Given the description of an element on the screen output the (x, y) to click on. 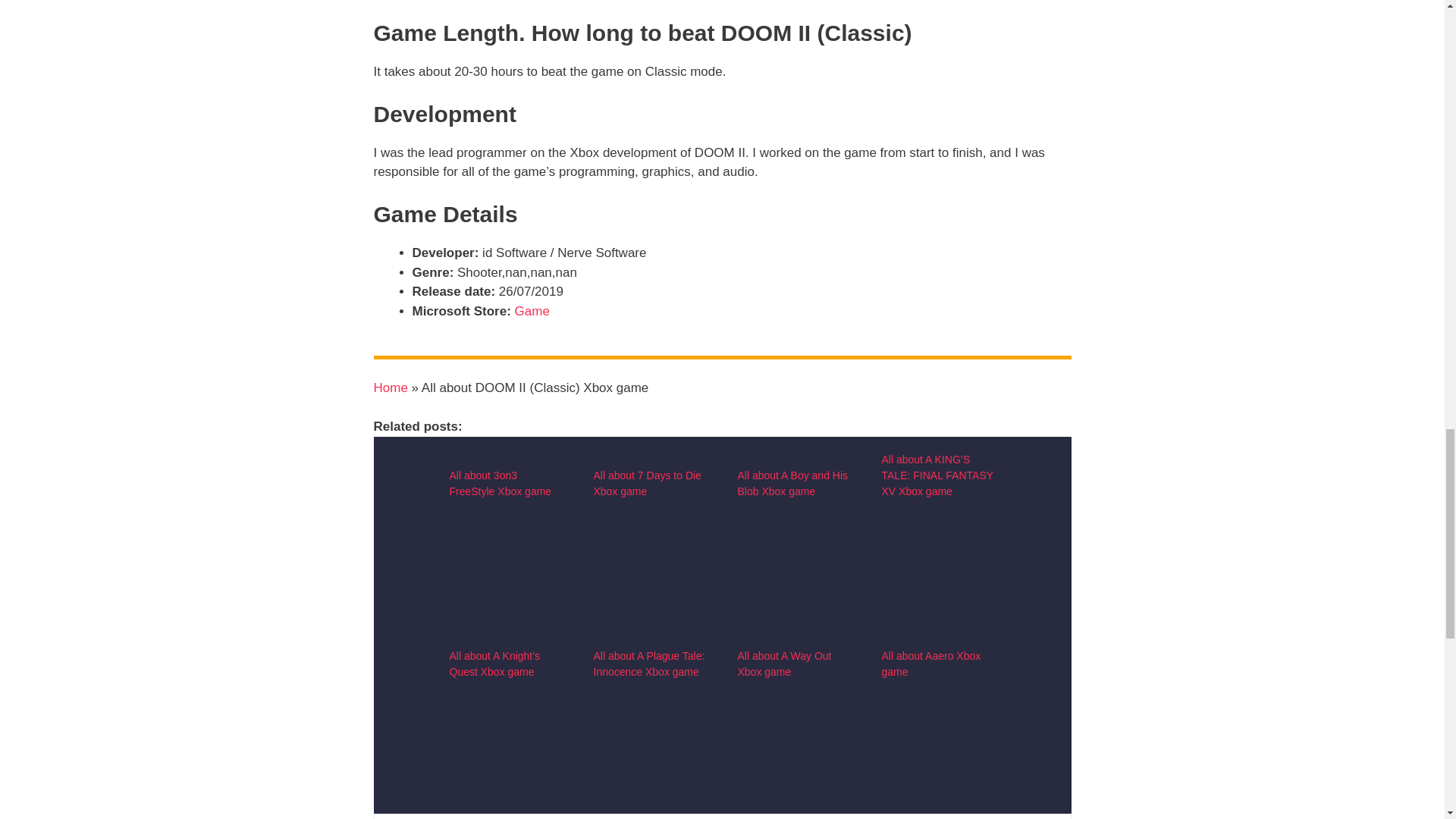
All about Aaero Xbox game (937, 801)
All about A Plague Tale: Innocence Xbox game (649, 801)
All about A Plague Tale: Innocence Xbox game (648, 663)
All about Aaero Xbox game (929, 663)
All about A Way Out Xbox game (783, 663)
All about 7 Days to Die Xbox game (646, 482)
All about A Knight's Quest Xbox game (505, 801)
Game (532, 310)
All about A Way Out Xbox game (793, 801)
All about A Boy and His Blob Xbox game (791, 482)
Home (389, 387)
All about 3on3 FreeStyle Xbox game (499, 482)
